Given the description of an element on the screen output the (x, y) to click on. 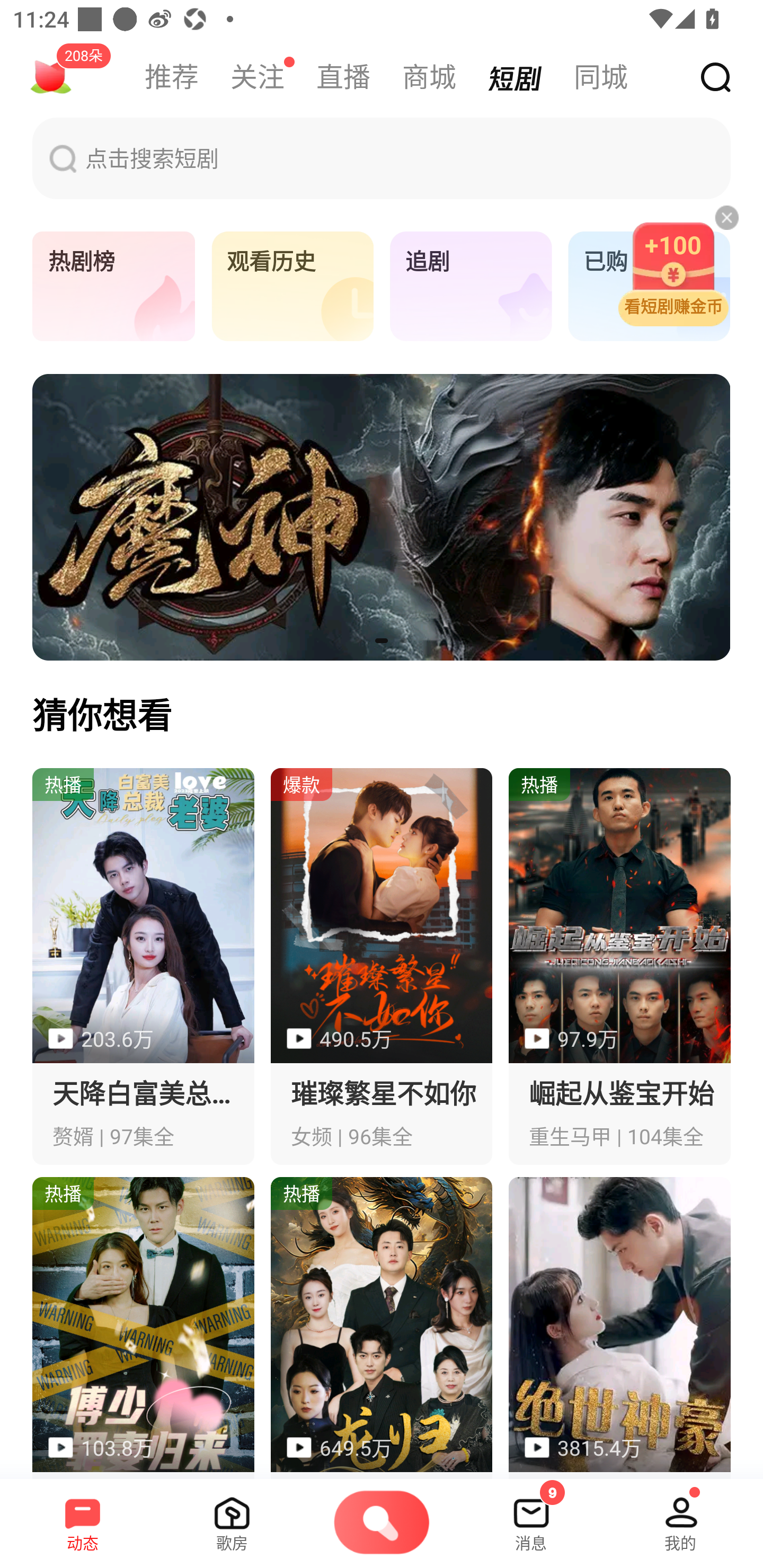
推荐 (171, 77)
关注 (257, 77)
直播 (343, 77)
商城 (429, 77)
同城 (600, 77)
任务中心 (50, 77)
搜索 (714, 78)
热剧榜 (113, 286)
观看历史 (291, 286)
追剧 (470, 286)
已购 (648, 286)
赘婿 | 97集全 (143, 966)
女频 | 96集全 (381, 966)
重生马甲 | 104集全 (619, 966)
已选中动态 (82, 1516)
未选中歌房 (231, 1516)
未选中录歌 (381, 1523)
未选中消息 (530, 1516)
未选中我的 (680, 1516)
